Given the description of an element on the screen output the (x, y) to click on. 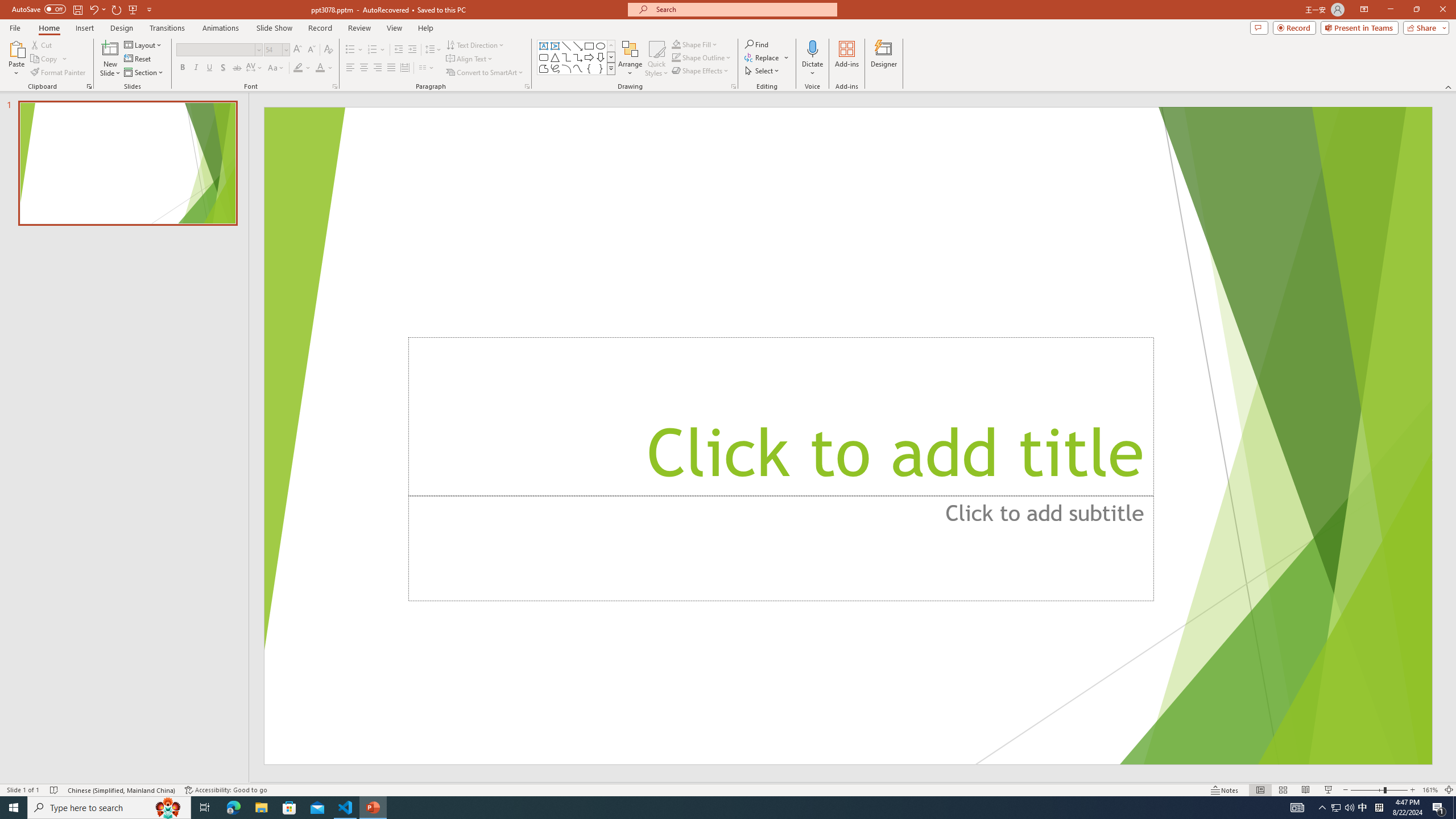
Arrow: Right (589, 57)
Bullets (349, 49)
AutomationID: ShapesInsertGallery (576, 57)
Arc (566, 68)
System (6, 6)
Rectangle: Rounded Corners (543, 57)
Design (122, 28)
Undo (92, 9)
Font (219, 49)
Increase Font Size (297, 49)
Underline (209, 67)
Zoom (1379, 790)
Animations (220, 28)
Slide Show (1328, 790)
Vertical Text Box (554, 45)
